Given the description of an element on the screen output the (x, y) to click on. 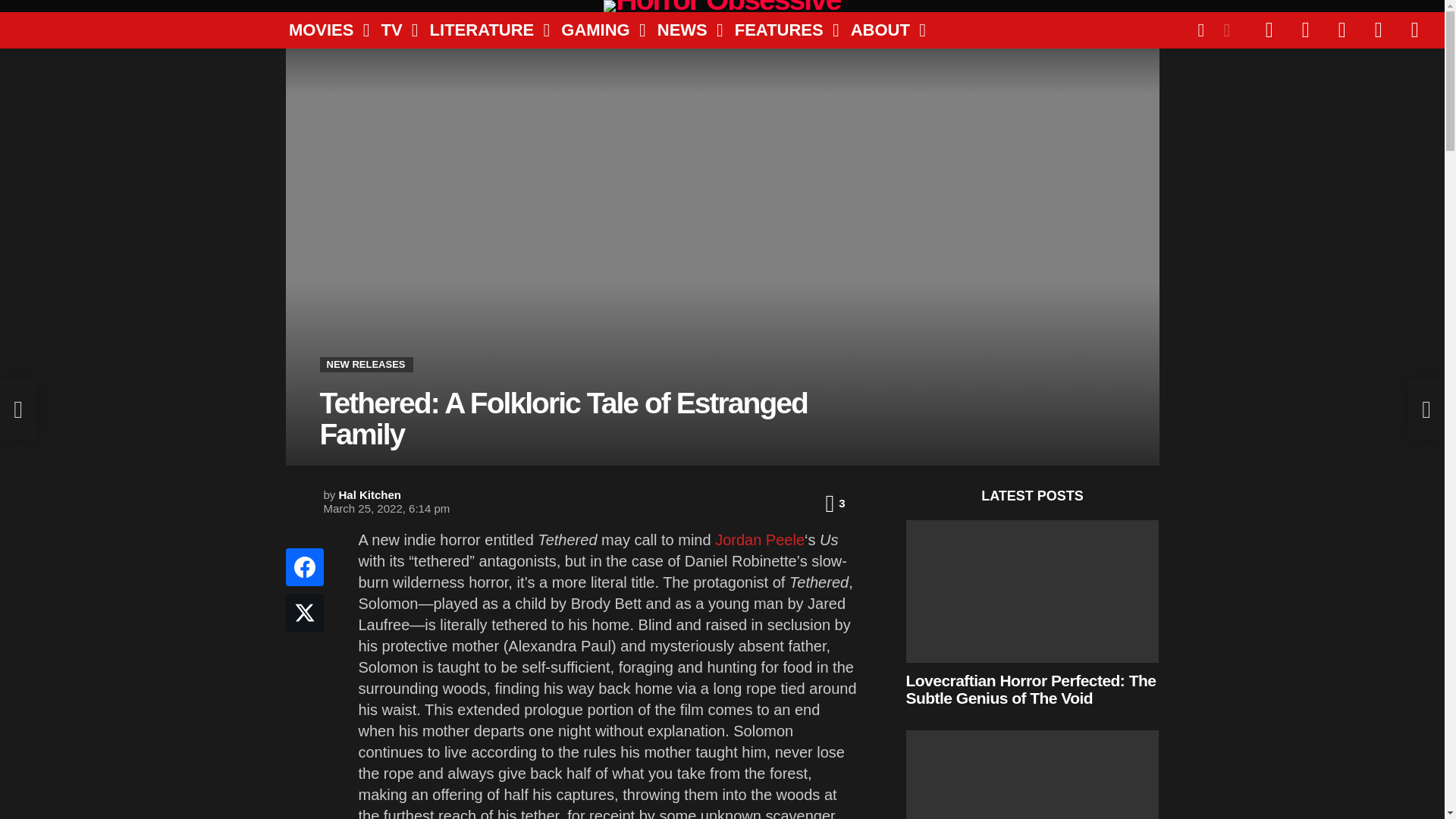
Share on Twitter (304, 612)
Share on Facebook (304, 566)
Carrie 1976 vs Carrie 2013: Which Film Reigns Supreme? (1031, 774)
TV (392, 29)
MOVIES (323, 29)
Lovecraftian Horror Perfected: The Subtle Genius of The Void (1031, 591)
Posts by Hal Kitchen (370, 494)
